Given the description of an element on the screen output the (x, y) to click on. 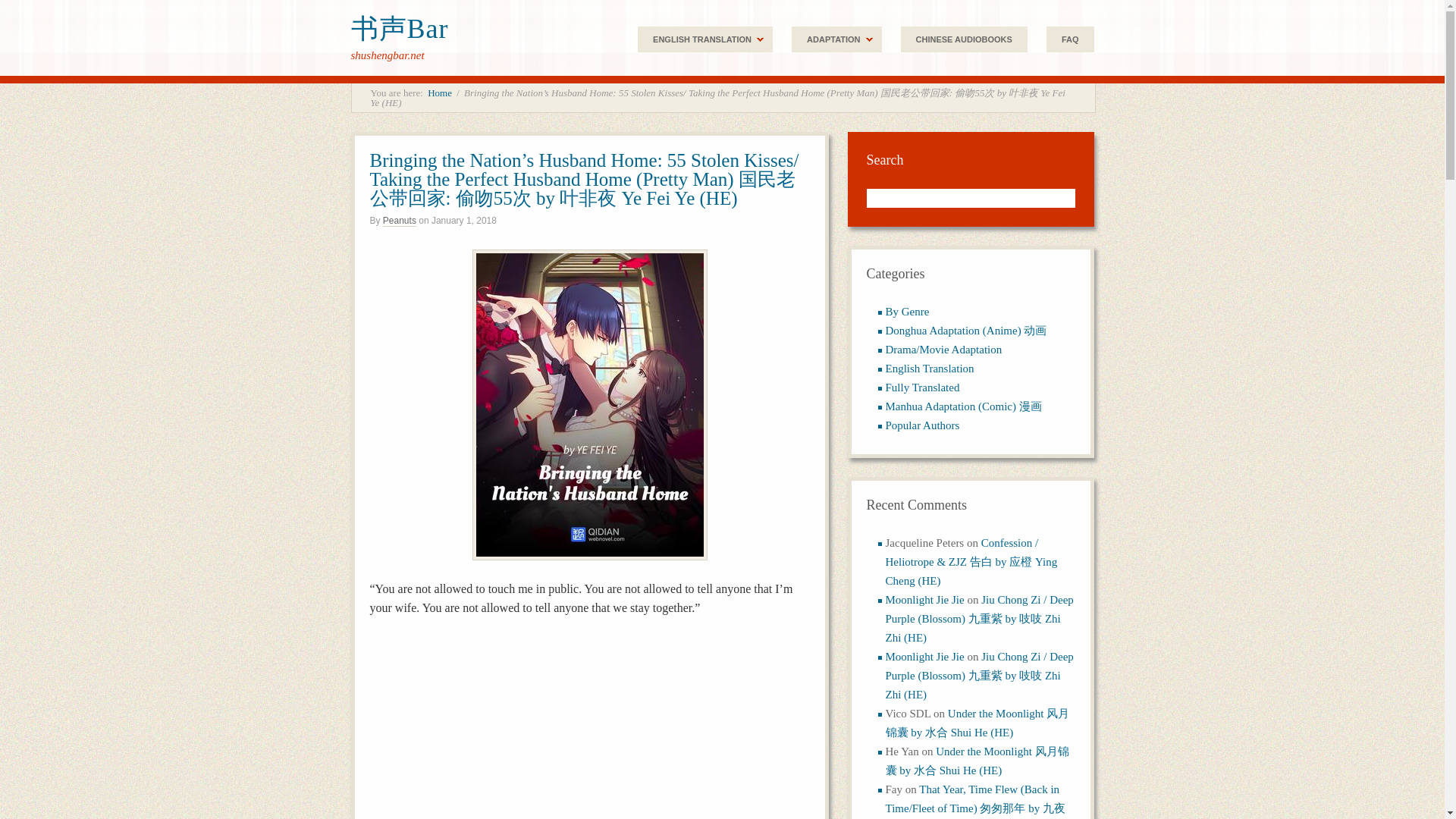
Peanuts (399, 220)
FAQ (1070, 39)
CHINESE AUDIOBOOKS (964, 39)
Monday, January 1st, 2018, 12:50 pm (463, 220)
Home (439, 92)
Advertisement (589, 727)
Peanuts (399, 220)
